Given the description of an element on the screen output the (x, y) to click on. 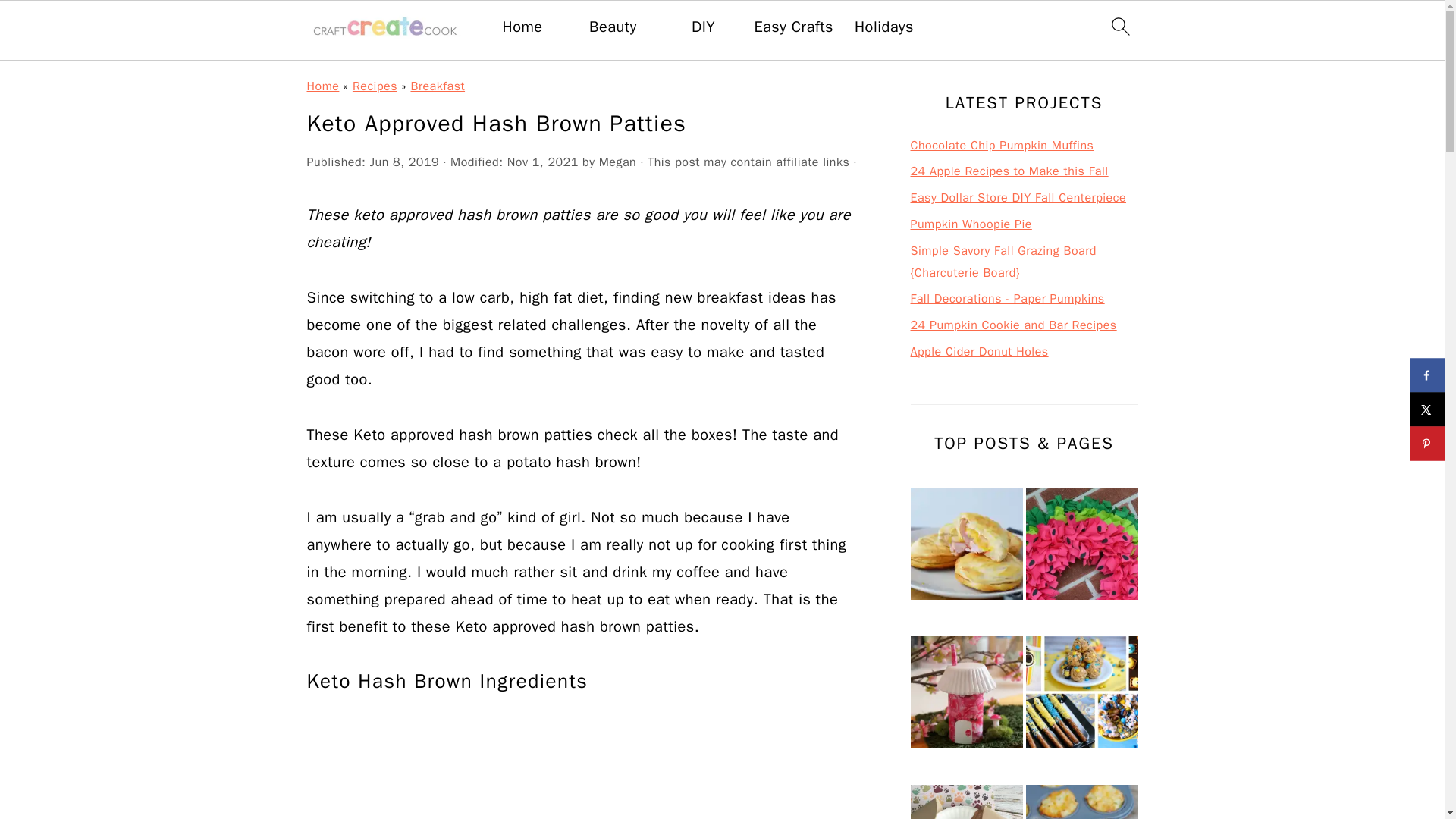
search icon (1119, 26)
Home (522, 27)
Beauty (613, 27)
